Given the description of an element on the screen output the (x, y) to click on. 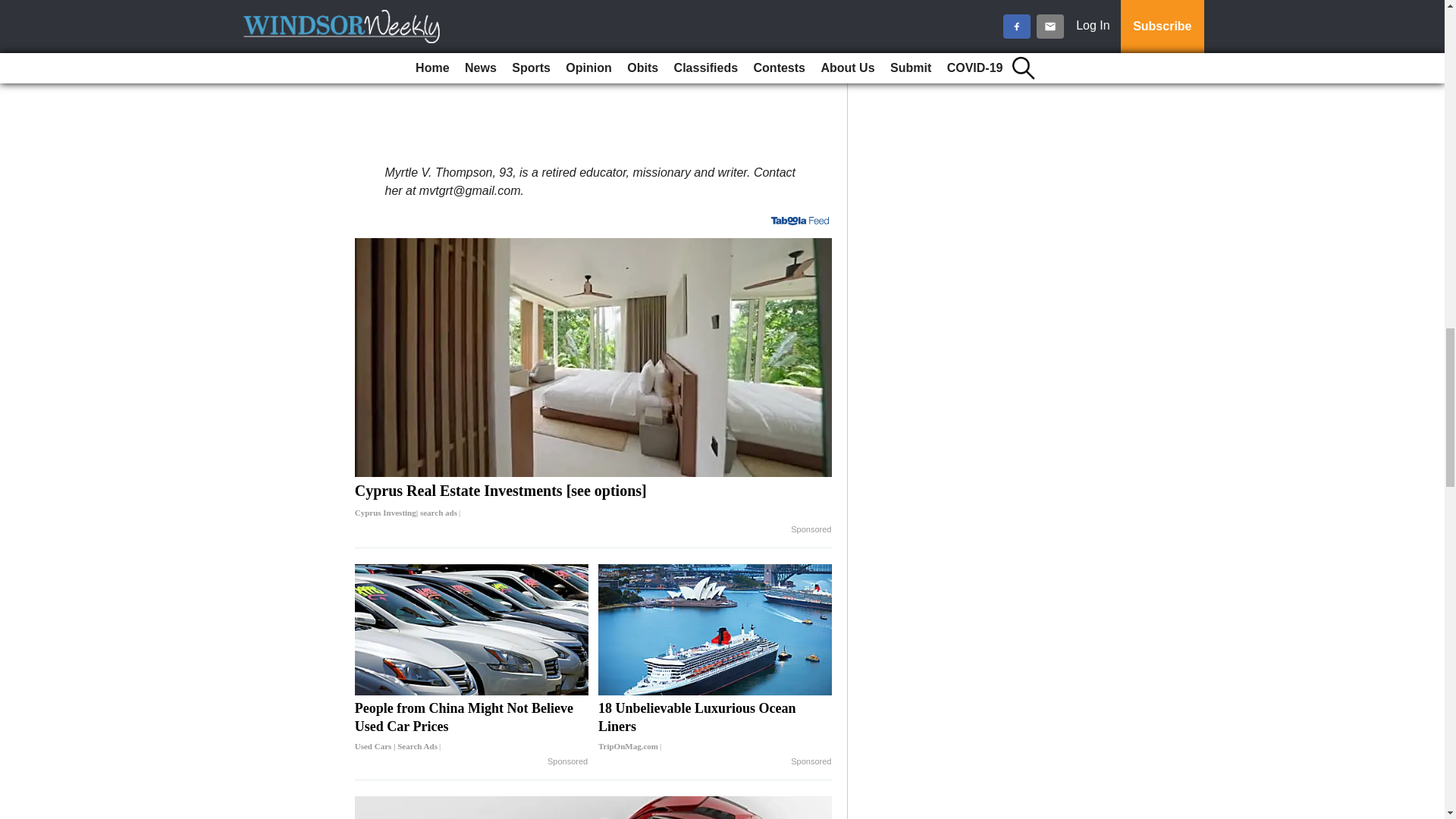
Sponsored (810, 529)
18 Unbelievable Luxurious Ocean Liners (714, 727)
Sponsored (810, 761)
Sponsored (567, 761)
18 Unbelievable Luxurious Ocean Liners (714, 629)
